Given the description of an element on the screen output the (x, y) to click on. 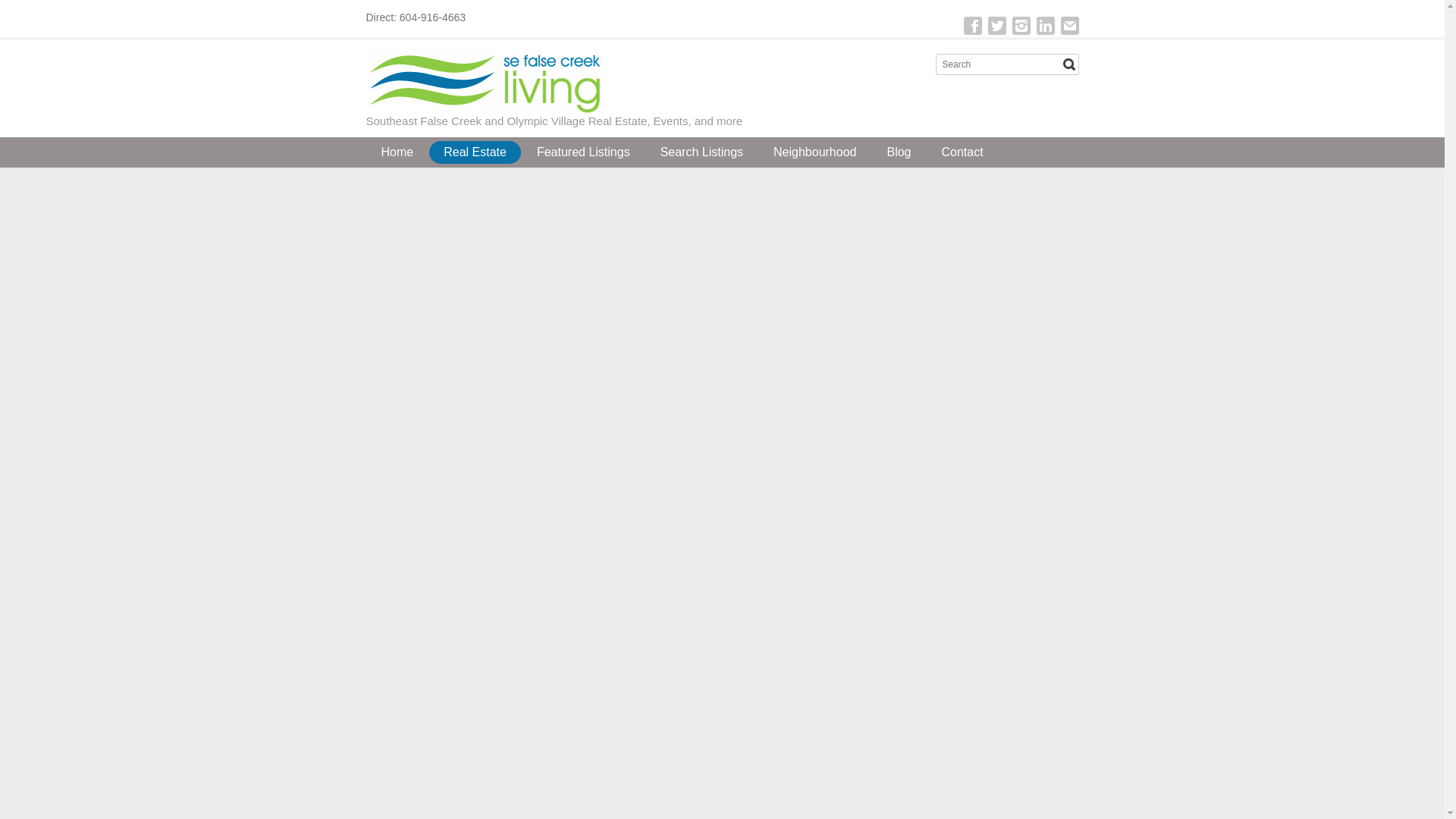
LinkedIn (1044, 25)
E-mail (1068, 25)
Real Estate (475, 151)
Featured Listings (583, 151)
Search (1068, 64)
Facebook (971, 25)
Home (397, 151)
Search Listings (701, 151)
Instagram (1020, 25)
Twitter (996, 25)
